Given the description of an element on the screen output the (x, y) to click on. 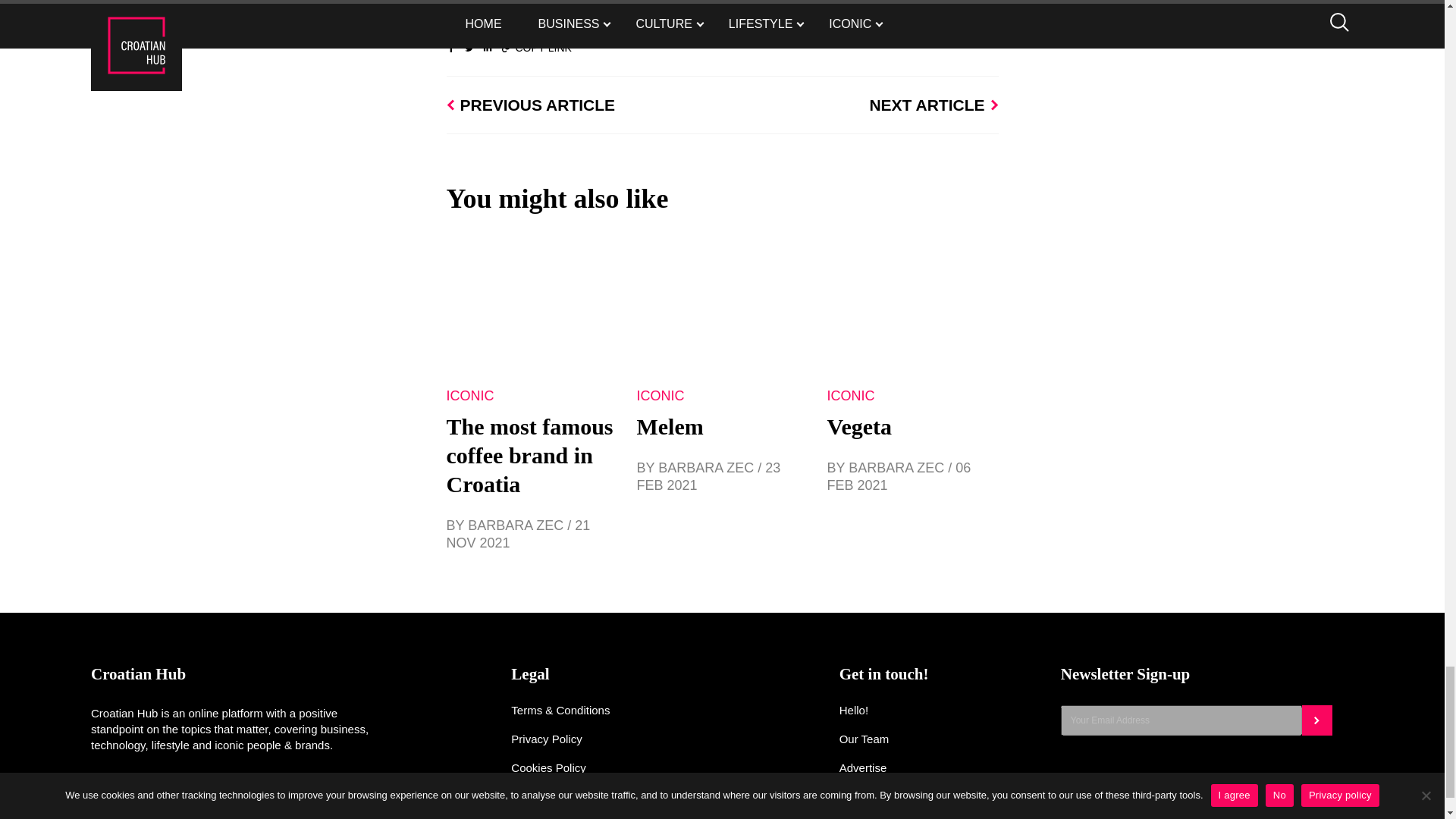
Send (1316, 720)
